Given the description of an element on the screen output the (x, y) to click on. 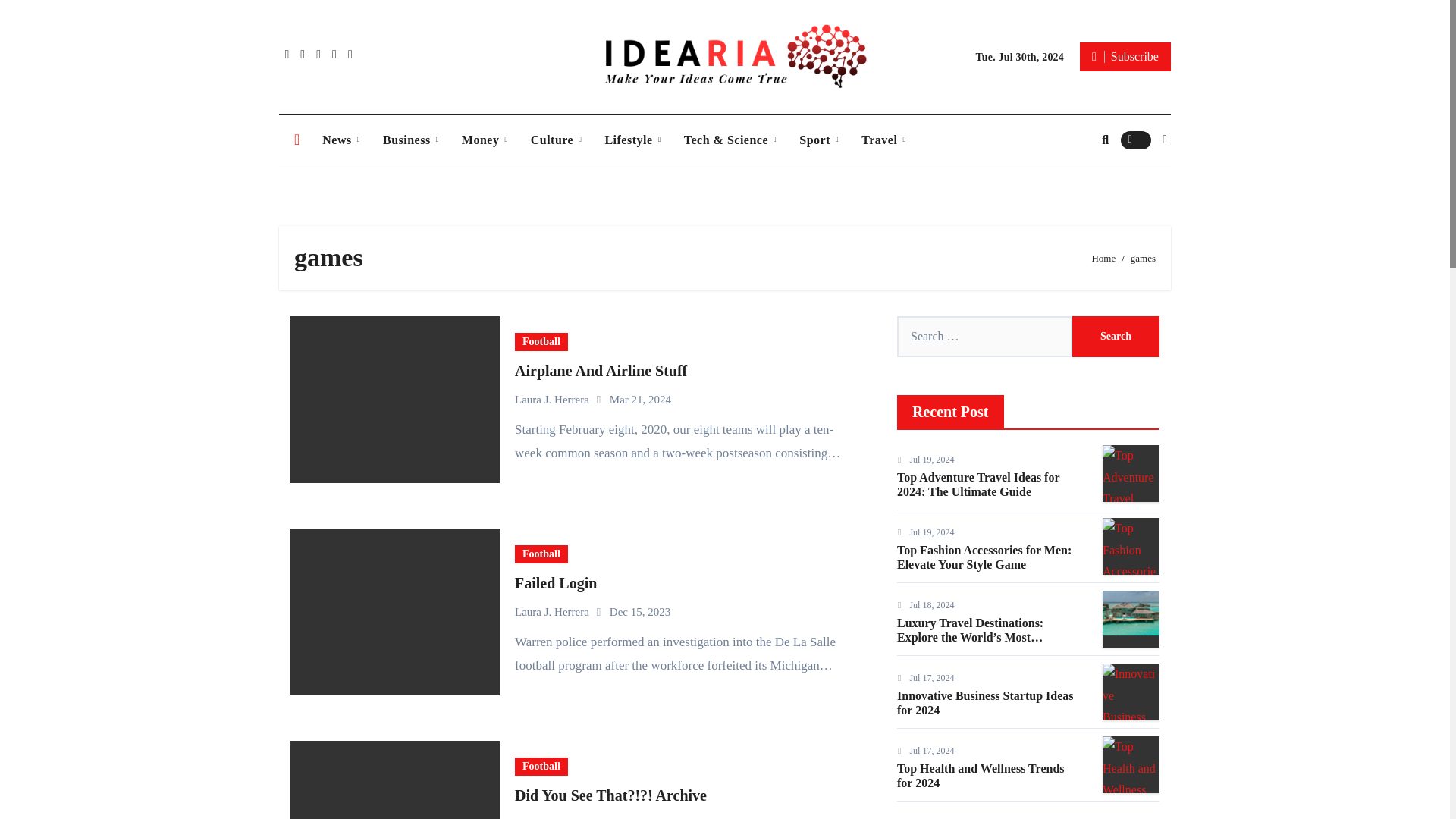
News (341, 139)
Subscribe (1125, 56)
News (341, 139)
Business (410, 139)
Search (1114, 336)
Money (484, 139)
Search (1114, 336)
Business (410, 139)
